Given the description of an element on the screen output the (x, y) to click on. 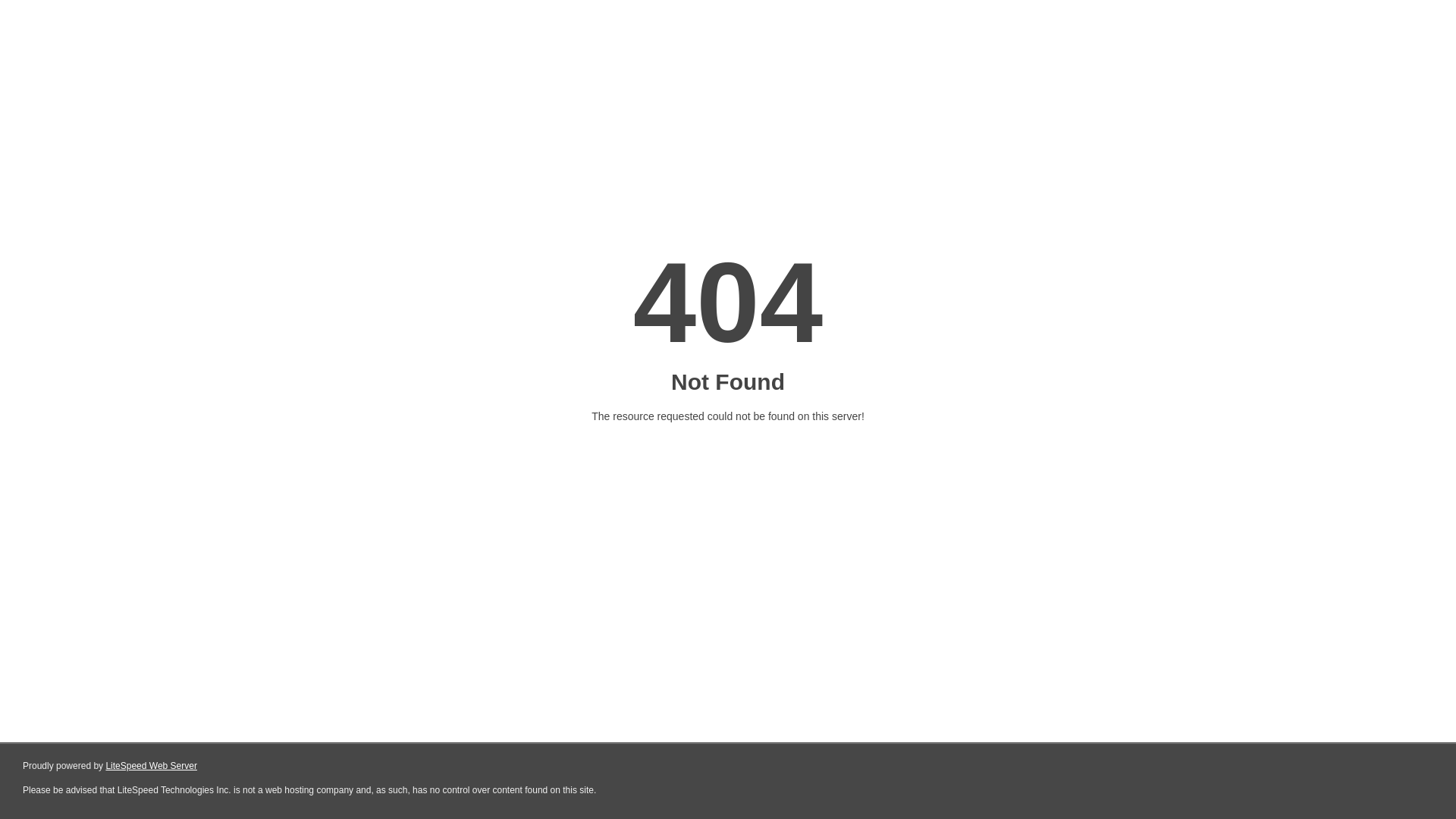
LiteSpeed Web Server Element type: text (151, 765)
